Given the description of an element on the screen output the (x, y) to click on. 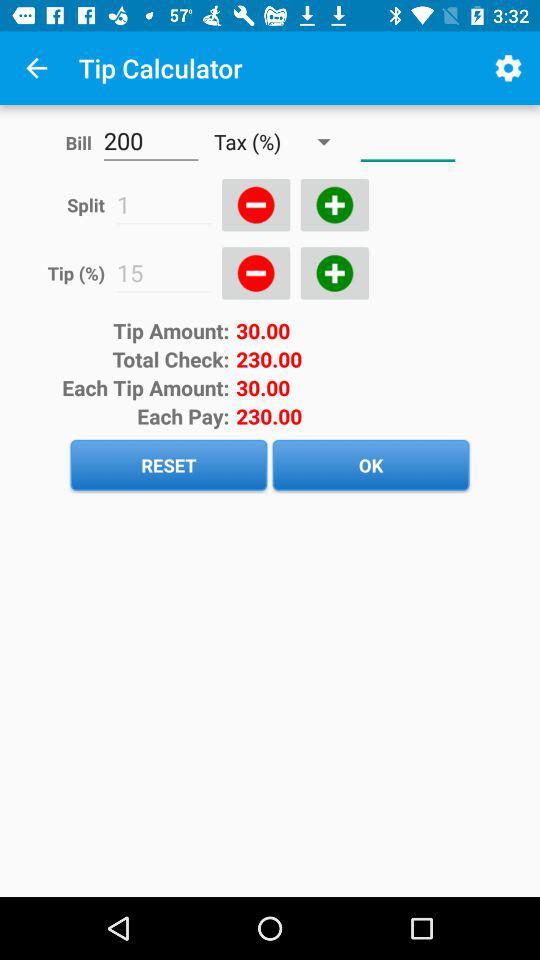
less tip (255, 273)
